Given the description of an element on the screen output the (x, y) to click on. 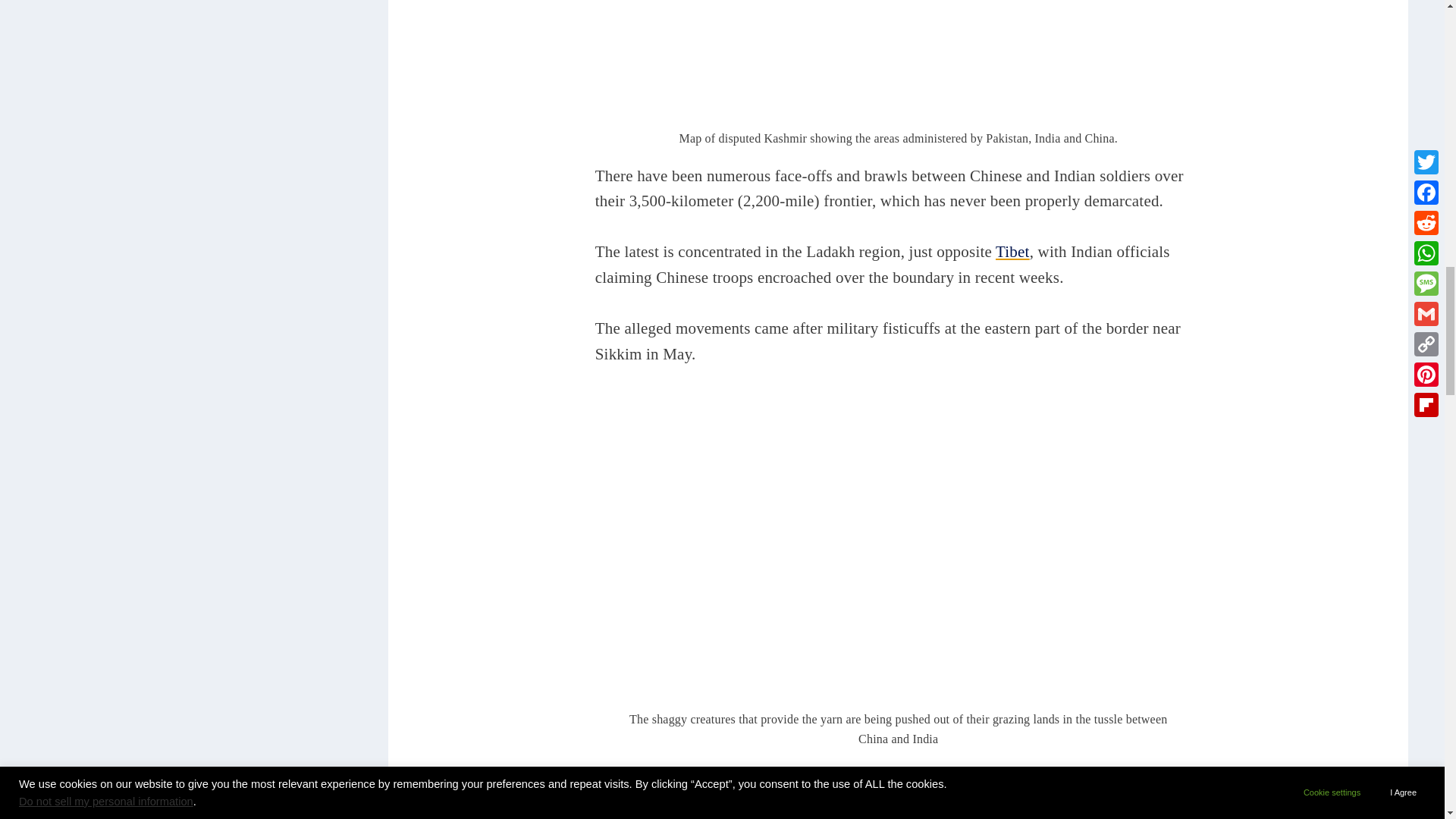
Map of Disputed Kashmir.afp (898, 62)
